Given the description of an element on the screen output the (x, y) to click on. 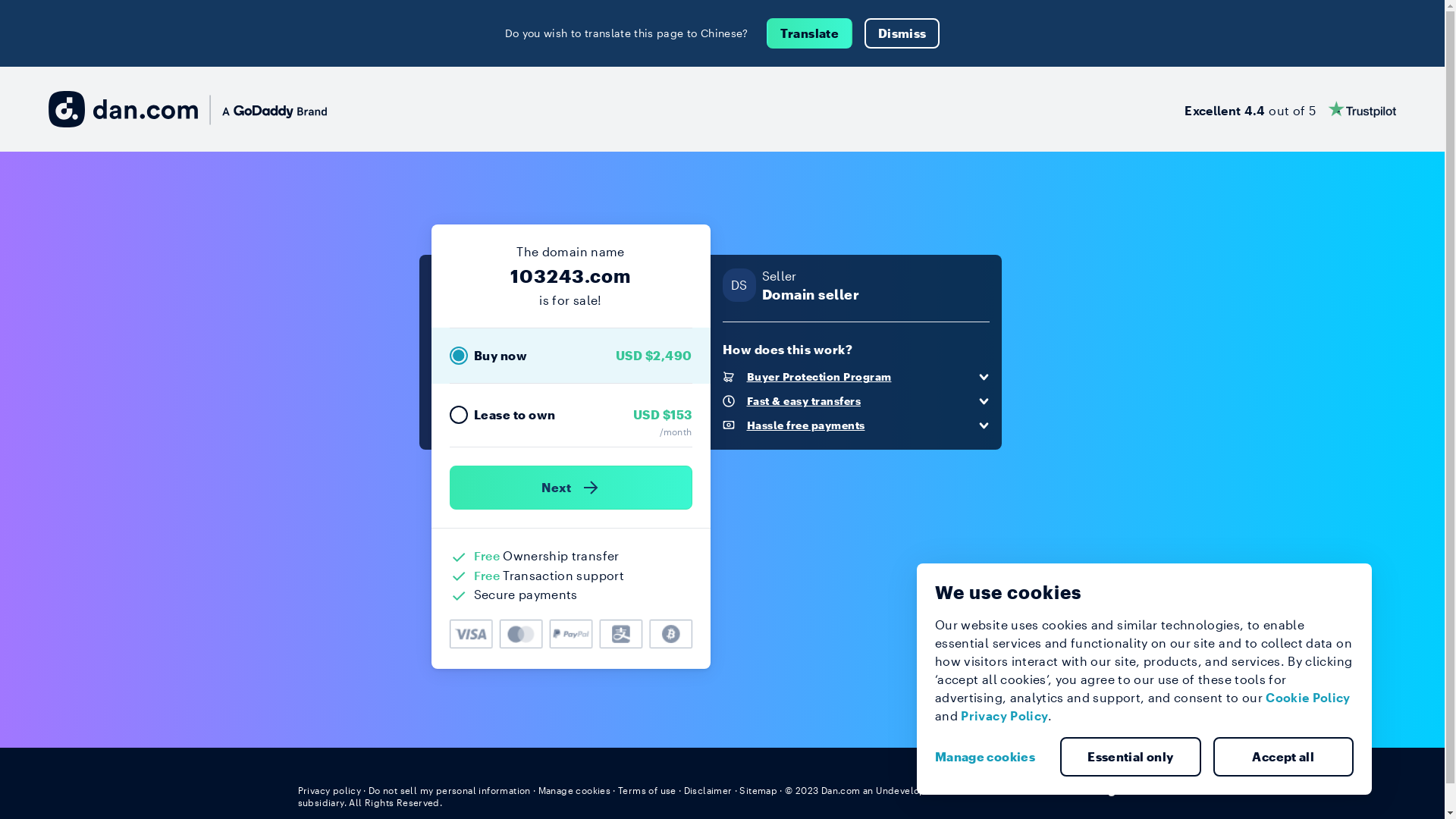
Next
) Element type: text (569, 487)
English Element type: text (1119, 789)
Translate Element type: text (809, 33)
Privacy policy Element type: text (328, 789)
Privacy Policy Element type: text (1004, 715)
Accept all Element type: text (1283, 756)
Sitemap Element type: text (758, 789)
Cookie Policy Element type: text (1307, 697)
Do not sell my personal information Element type: text (449, 789)
Manage cookies Element type: text (991, 756)
Manage cookies Element type: text (574, 790)
Excellent 4.4 out of 5 Element type: text (1290, 109)
Dismiss Element type: text (901, 33)
Essential only Element type: text (1130, 756)
Terms of use Element type: text (647, 789)
Disclaimer Element type: text (708, 789)
